Given the description of an element on the screen output the (x, y) to click on. 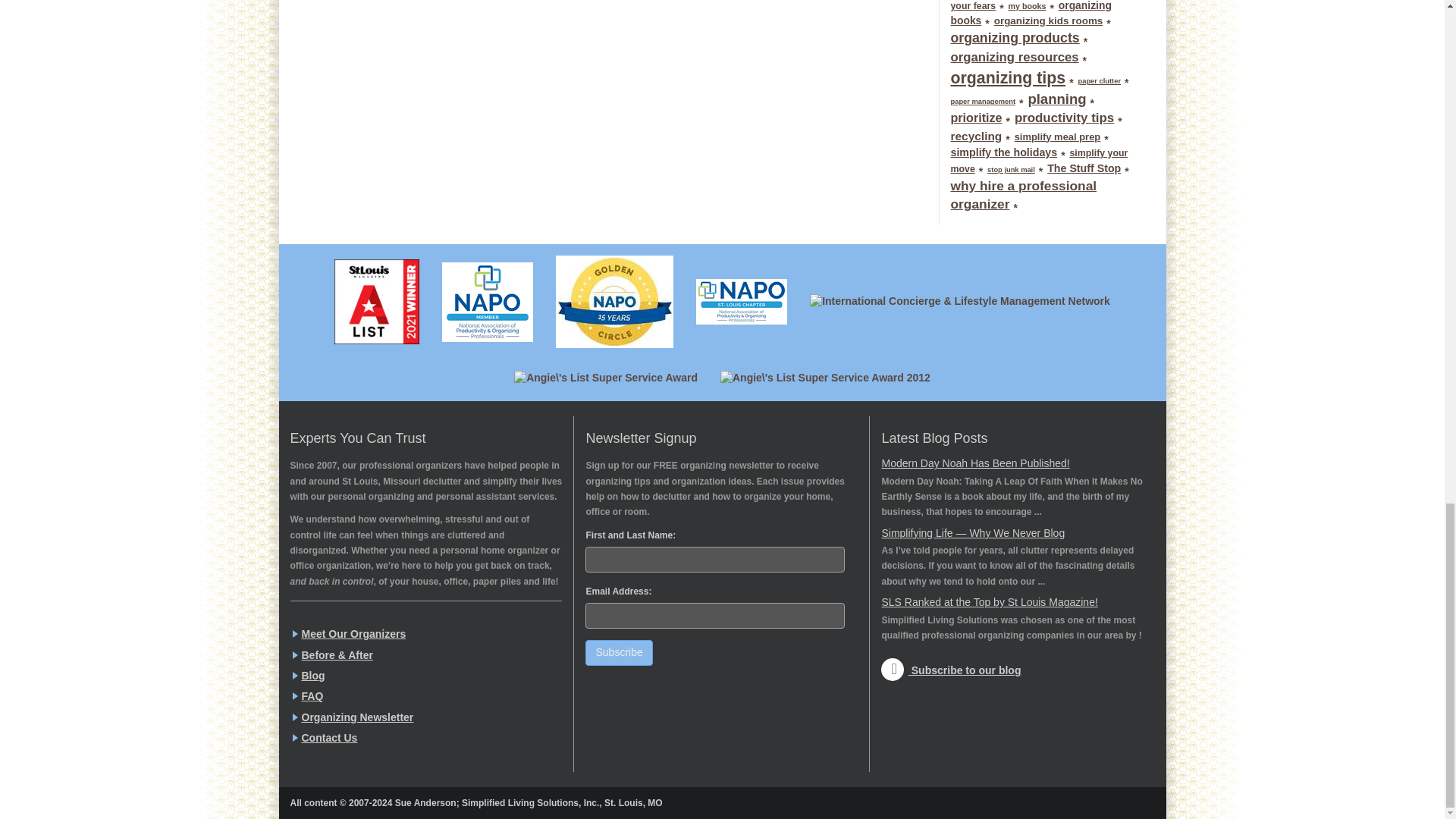
NAPO National (487, 301)
NAPO Golden Circle (614, 301)
NAPO St Louis (740, 301)
